Given the description of an element on the screen output the (x, y) to click on. 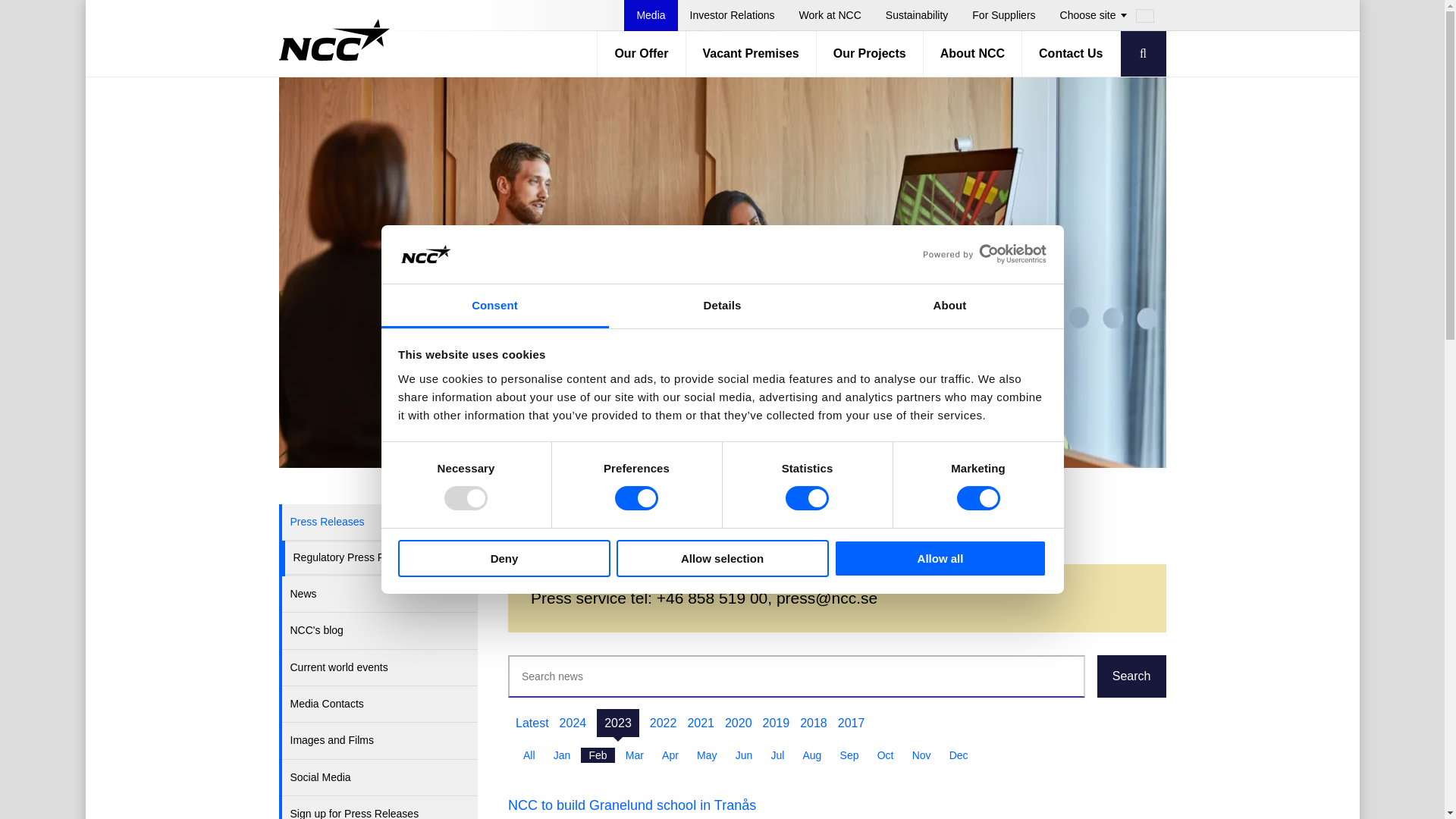
Consent (494, 306)
Details (721, 306)
About (948, 306)
